Given the description of an element on the screen output the (x, y) to click on. 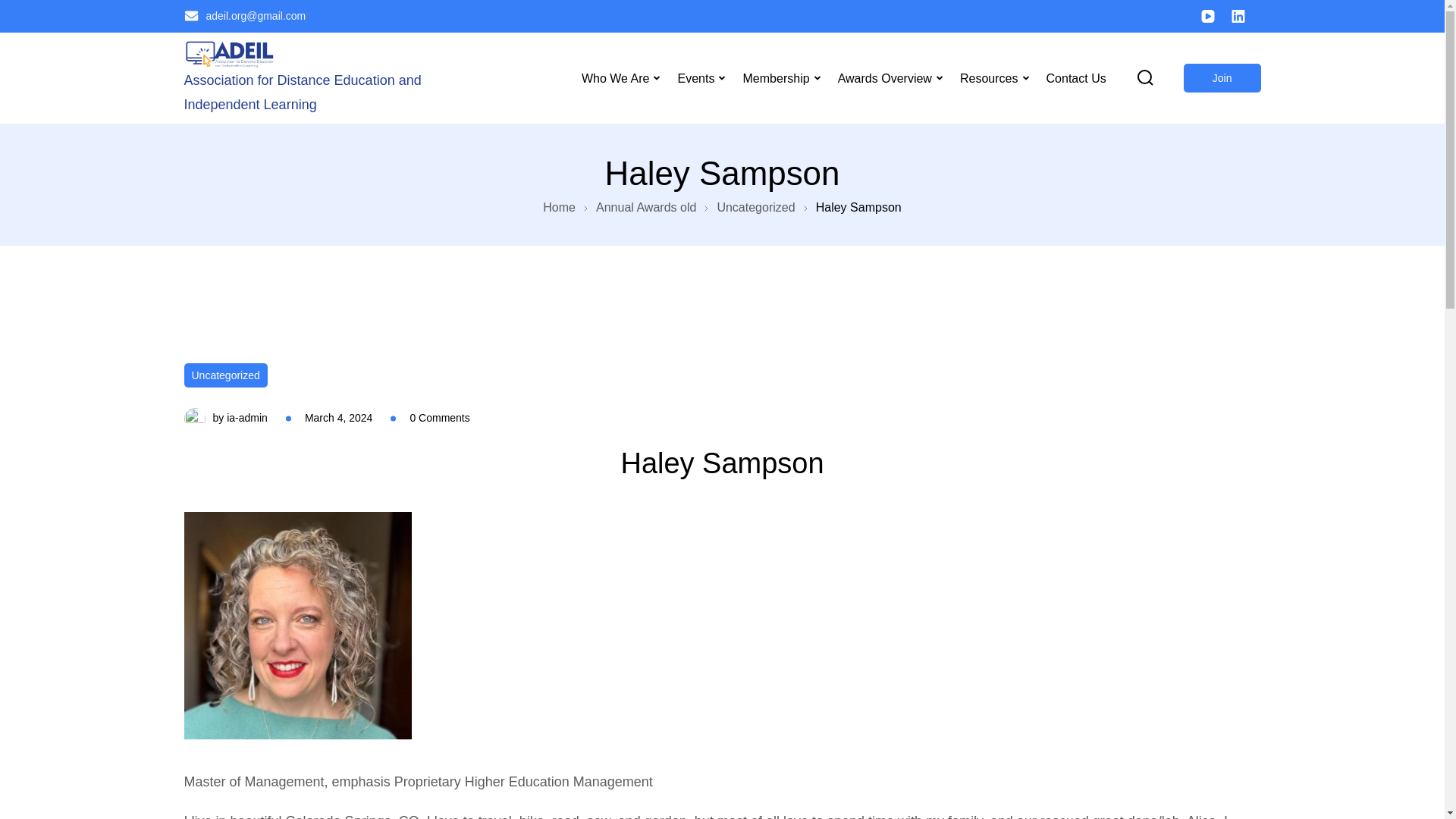
Join (1221, 77)
Contact Us (1069, 78)
Resources (988, 78)
Awards Overview (884, 78)
Events (695, 78)
Membership (775, 78)
Who We Are (615, 78)
